Given the description of an element on the screen output the (x, y) to click on. 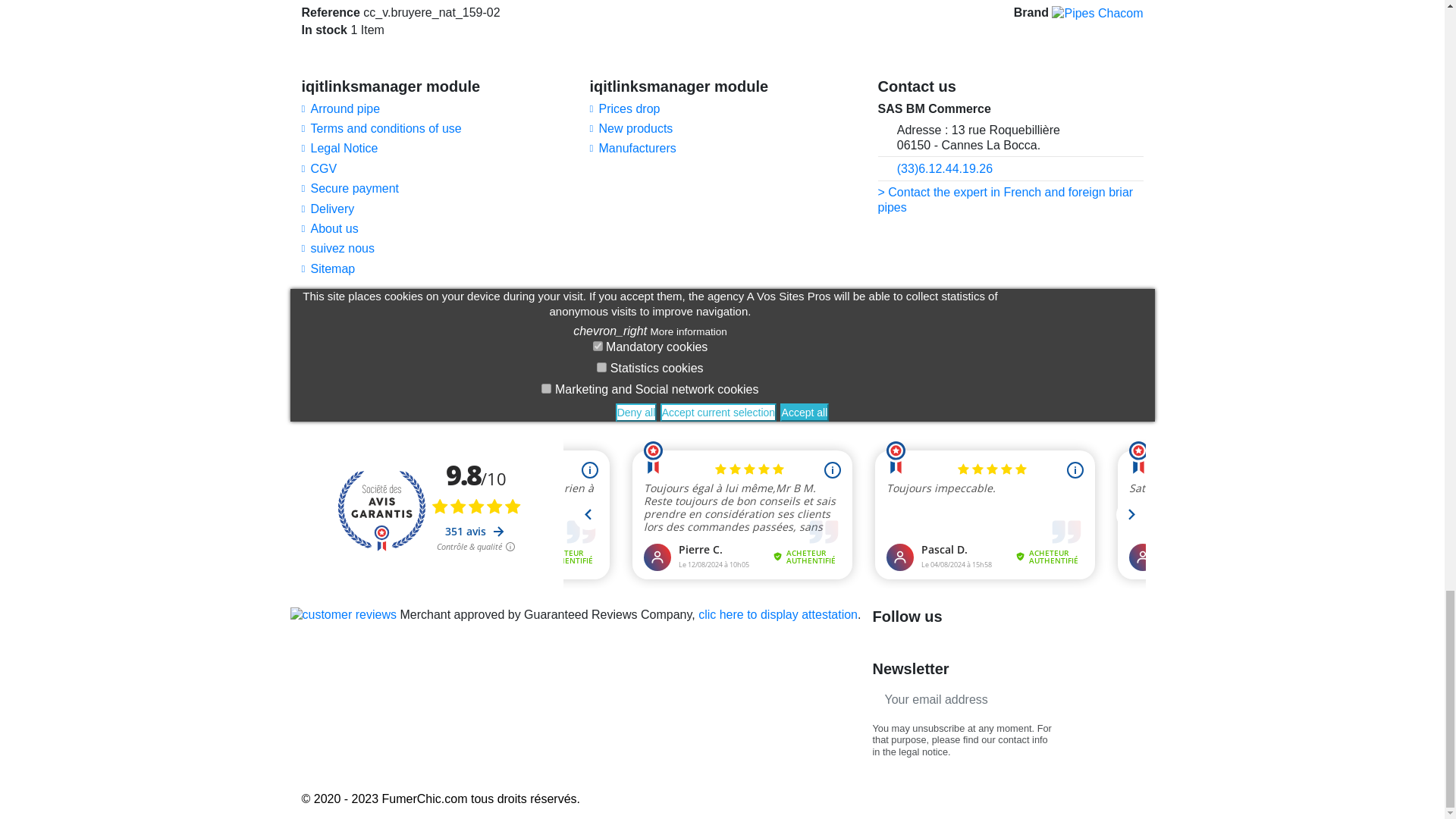
on (546, 388)
on (601, 367)
Legal notice (339, 148)
on (597, 346)
Our terms and conditions of use (381, 128)
